Given the description of an element on the screen output the (x, y) to click on. 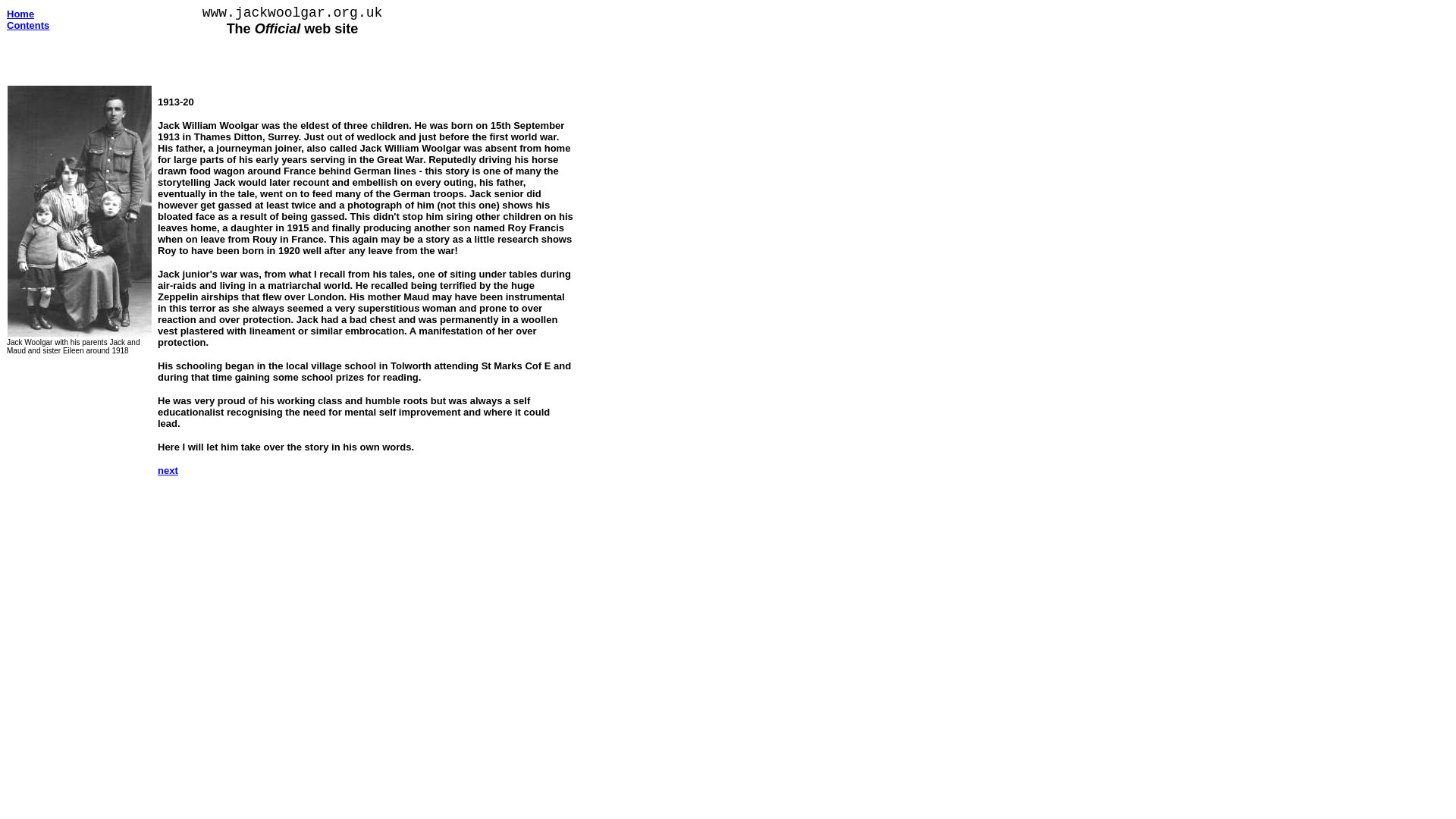
Contents (28, 25)
Home (20, 13)
next (167, 469)
